Given the description of an element on the screen output the (x, y) to click on. 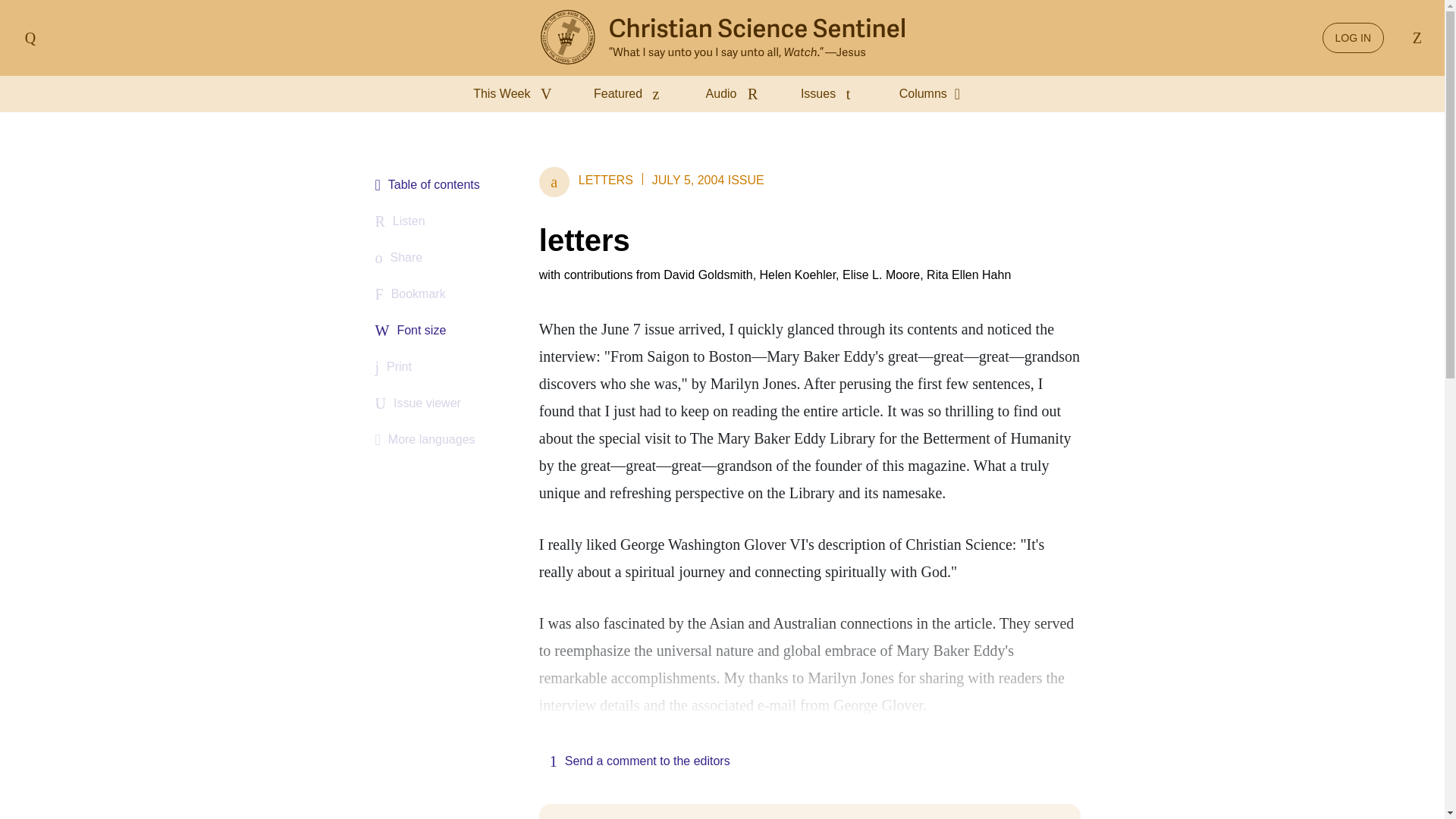
This Week (515, 94)
Featured (631, 94)
Issues (831, 94)
Audio (735, 94)
Side Menu (29, 37)
Featured (631, 94)
Audio (735, 94)
Columns (934, 94)
Issues (831, 94)
View Sentinel Columns and Sections (934, 94)
